Given the description of an element on the screen output the (x, y) to click on. 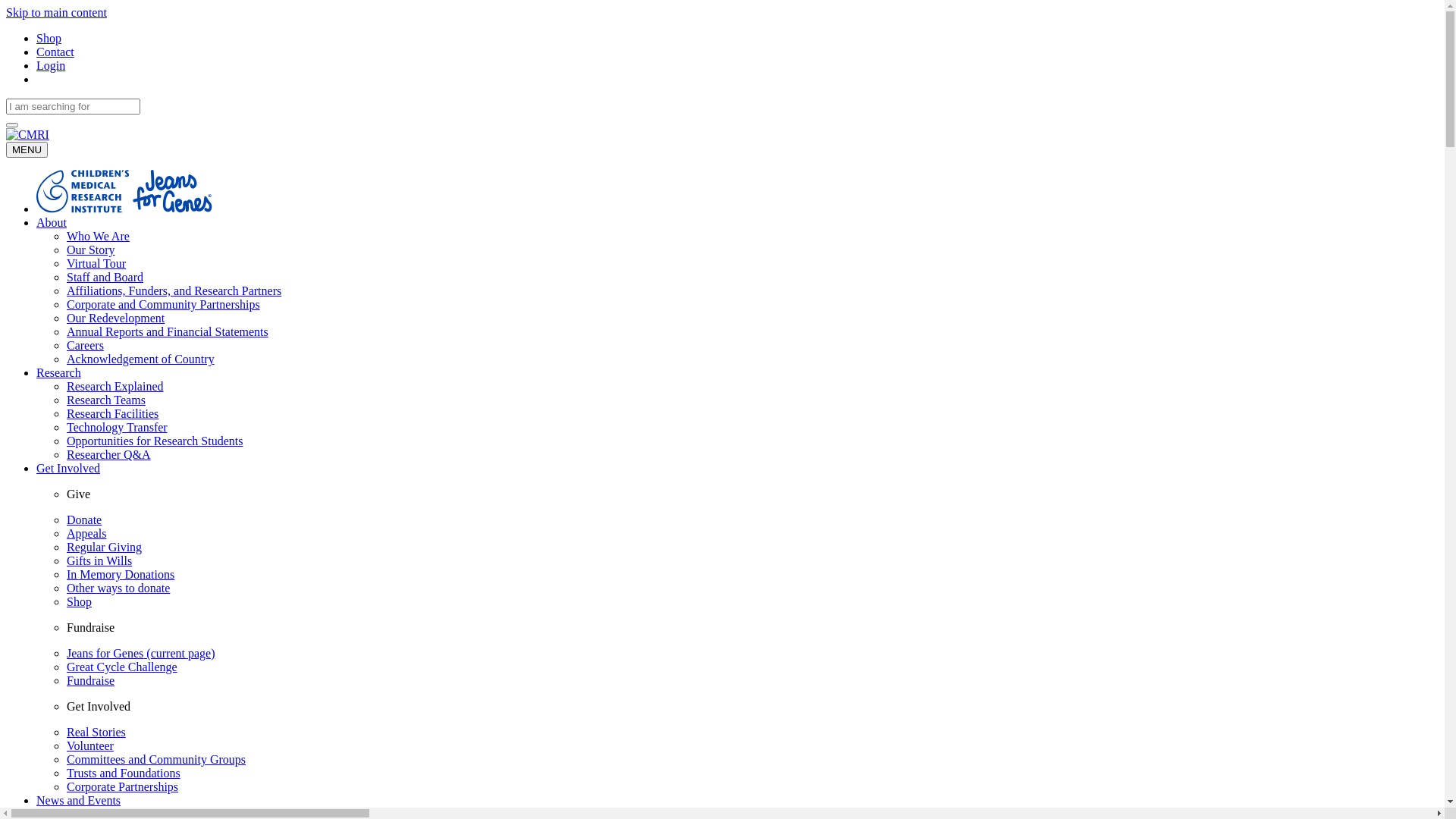
News and Events Element type: text (78, 799)
Appeals Element type: text (86, 533)
Donate Element type: text (83, 519)
About Element type: text (51, 222)
Technology Transfer Element type: text (116, 426)
Real Stories Element type: text (95, 731)
Our Redevelopment Element type: text (115, 317)
Affiliations, Funders, and Research Partners Element type: text (173, 290)
MENU Element type: text (26, 149)
Opportunities for Research Students Element type: text (154, 440)
Committees and Community Groups Element type: text (155, 759)
Skip to main content Element type: text (56, 12)
Gifts in Wills Element type: text (98, 560)
Our Story Element type: text (90, 249)
Staff and Board Element type: text (104, 276)
Annual Reports and Financial Statements Element type: text (167, 331)
Research Element type: text (58, 372)
Research Facilities Element type: text (112, 413)
Other ways to donate Element type: text (117, 587)
Research Explained Element type: text (114, 385)
Corporate and Community Partnerships Element type: text (163, 304)
Regular Giving Element type: text (103, 546)
Who We Are Element type: text (97, 235)
Get Involved Element type: text (68, 467)
Fundraise Element type: text (90, 680)
Research Teams Element type: text (105, 399)
Login Element type: text (50, 65)
Virtual Tour Element type: text (95, 263)
Volunteer Element type: text (89, 745)
Corporate Partnerships Element type: text (122, 786)
Jeans for Genes (current page) Element type: text (140, 652)
Researcher Q&A Element type: text (108, 454)
Acknowledgement of Country Element type: text (140, 358)
In Memory Donations Element type: text (120, 573)
Shop Element type: text (78, 601)
Shop Element type: text (48, 37)
Great Cycle Challenge Element type: text (121, 666)
Trusts and Foundations Element type: text (123, 772)
Careers Element type: text (84, 344)
Contact Element type: text (55, 51)
